Given the description of an element on the screen output the (x, y) to click on. 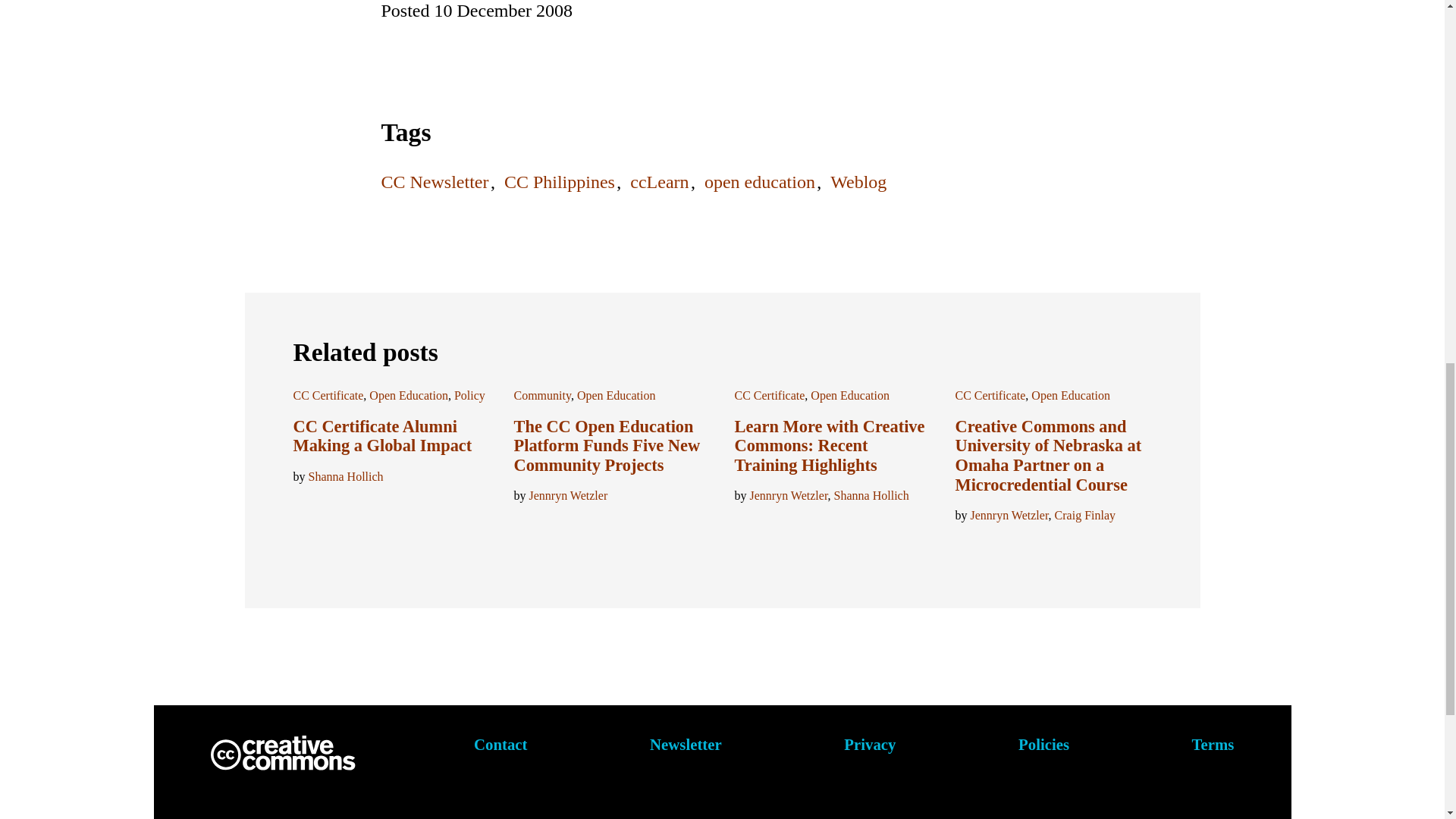
CC Philippines (558, 181)
Jennryn Wetzler (788, 495)
open education (759, 181)
Shanna Hollich (344, 476)
CC Certificate (327, 395)
Community (541, 395)
Open Education (616, 395)
Learn More with Creative Commons: Recent Training Highlights (828, 445)
CC Newsletter (433, 181)
CC Certificate Alumni Making a Global Impact (381, 435)
